Given the description of an element on the screen output the (x, y) to click on. 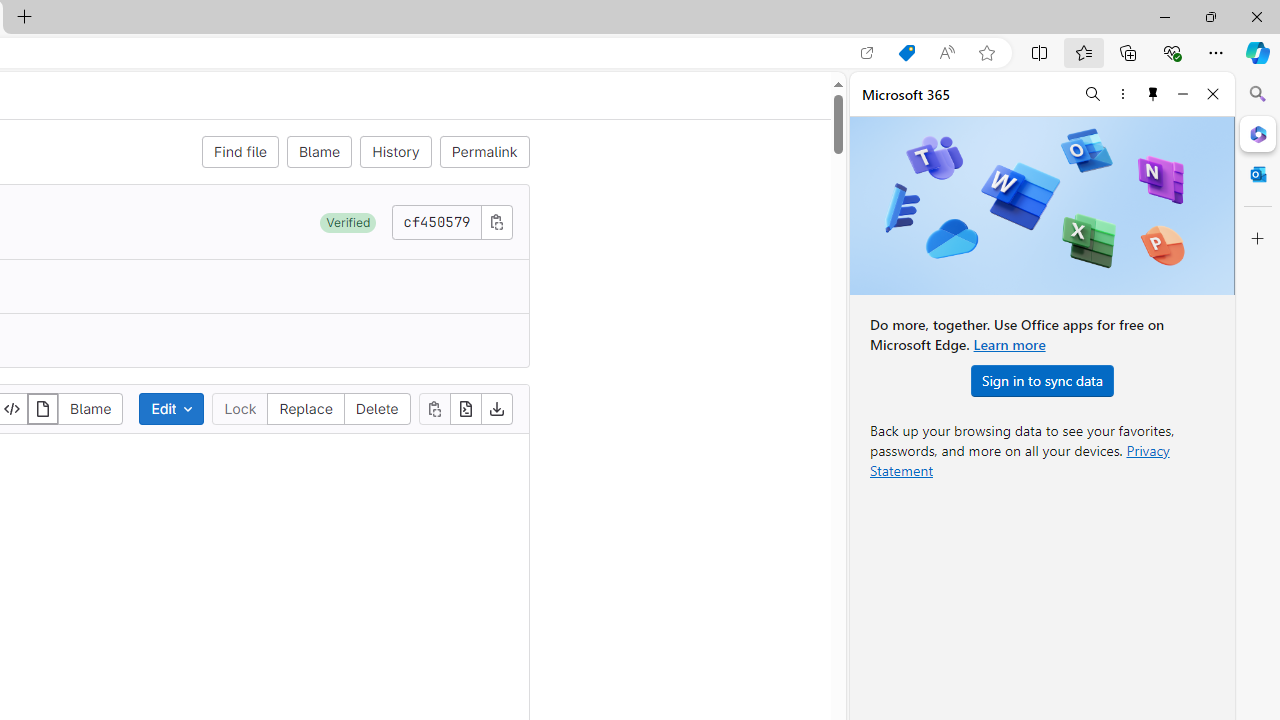
Open in app (867, 53)
Lock (240, 408)
Replace (306, 408)
Permalink (484, 151)
Blame (90, 408)
